Given the description of an element on the screen output the (x, y) to click on. 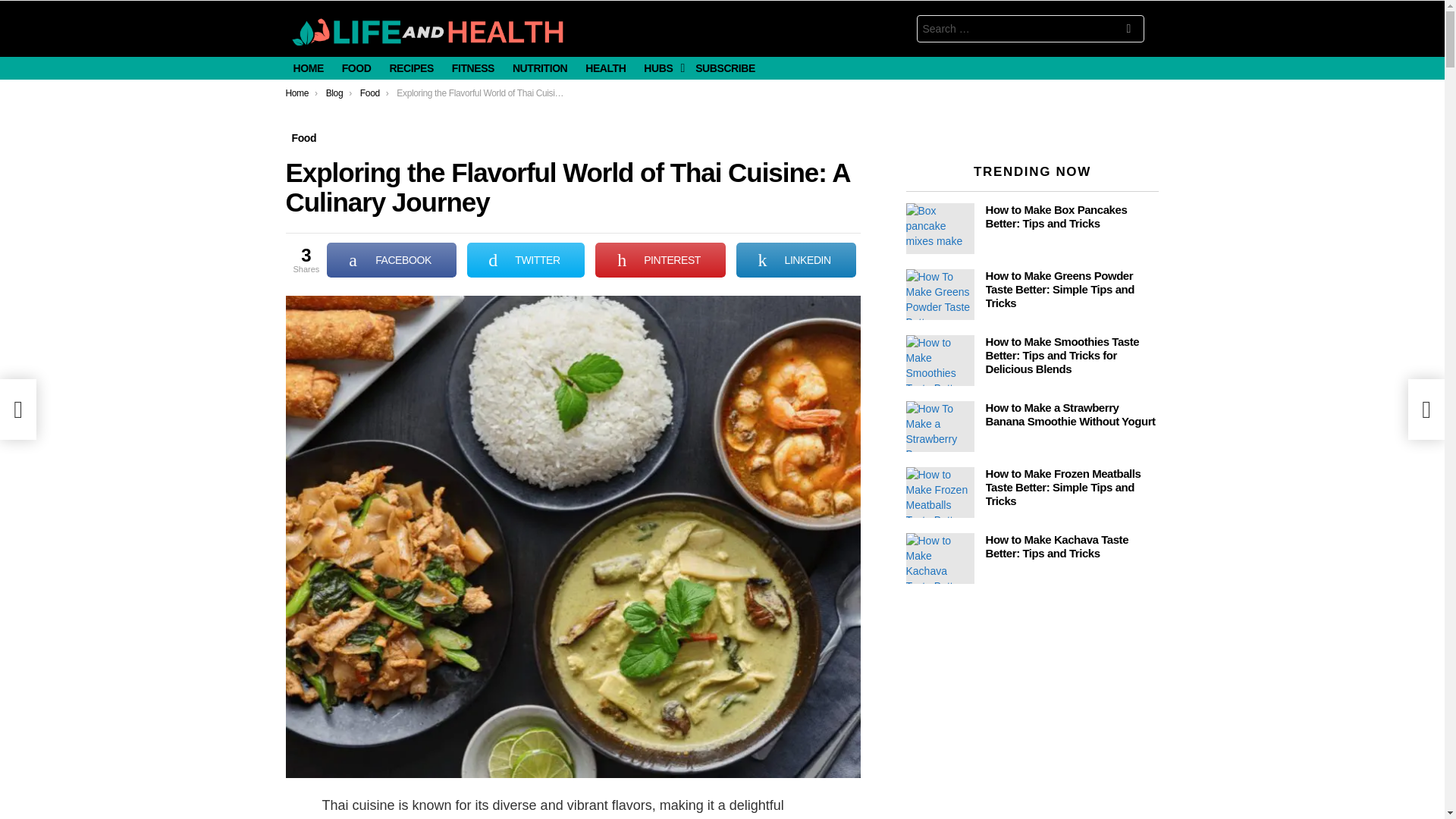
Home (296, 92)
Food (369, 92)
Search for: (1028, 28)
PINTEREST (660, 259)
SUBSCRIBE (724, 67)
FACEBOOK (390, 259)
FOOD (356, 67)
TWITTER (526, 259)
FITNESS (473, 67)
Food (303, 137)
